Given the description of an element on the screen output the (x, y) to click on. 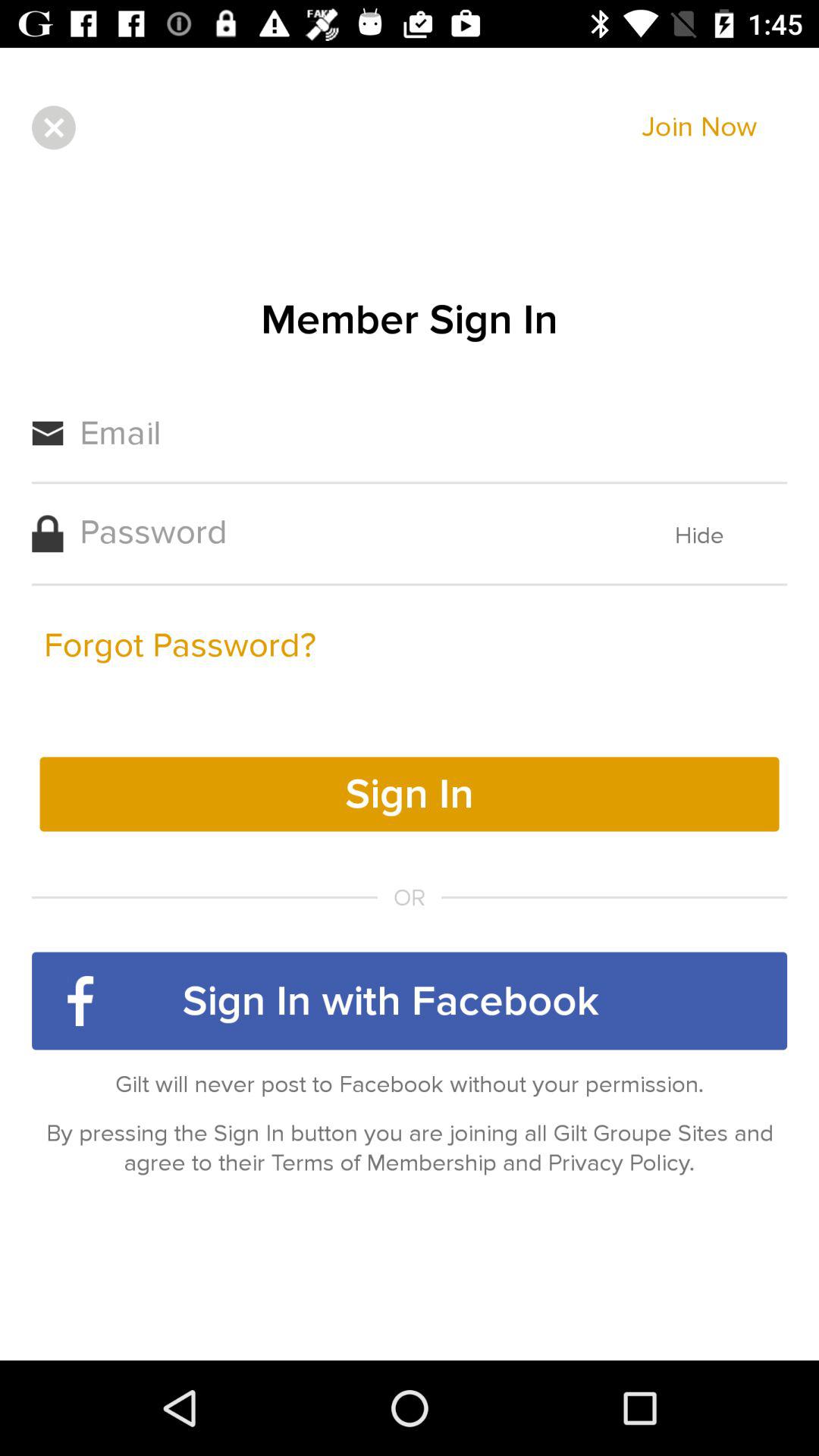
turn on item next to join now item (53, 127)
